Given the description of an element on the screen output the (x, y) to click on. 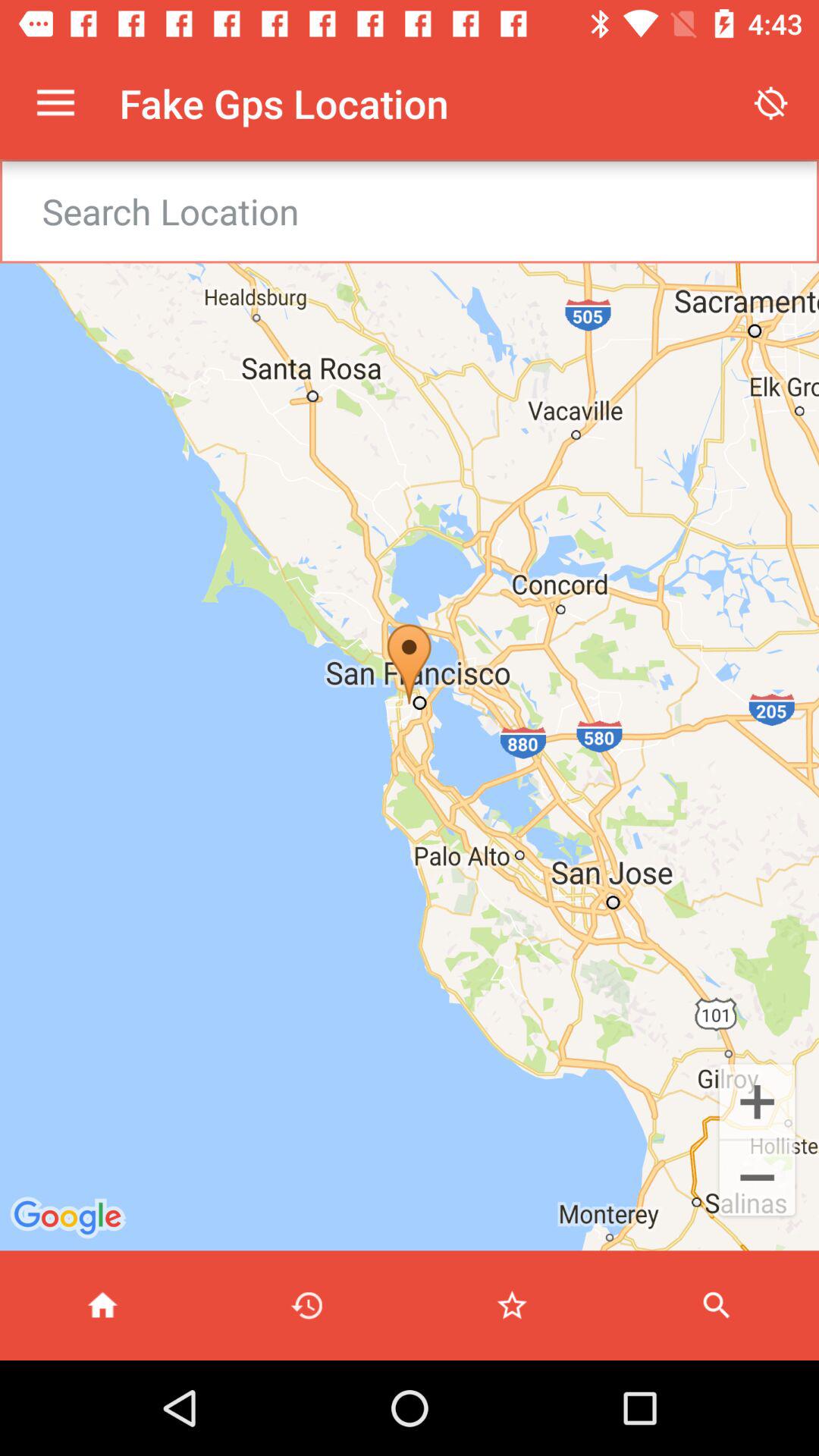
go home (102, 1305)
